Given the description of an element on the screen output the (x, y) to click on. 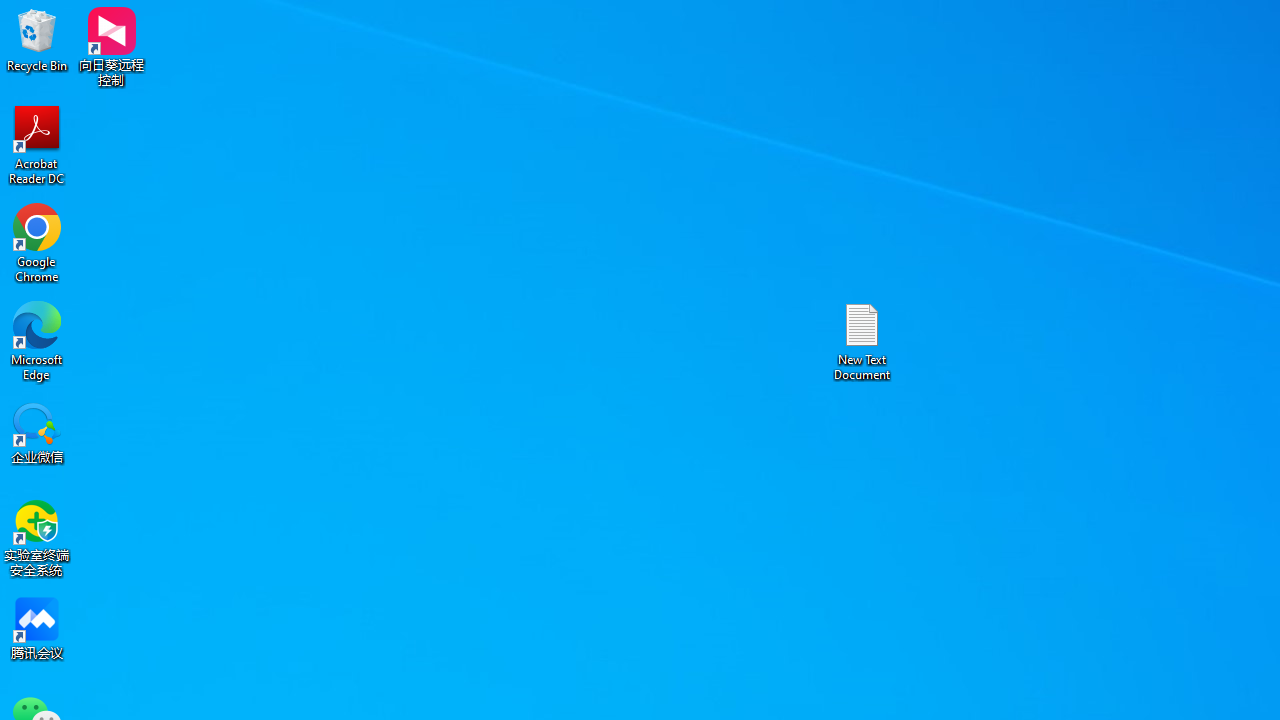
Acrobat Reader DC (37, 144)
Microsoft Edge (37, 340)
Google Chrome (37, 242)
Recycle Bin (37, 39)
New Text Document (861, 340)
